Given the description of an element on the screen output the (x, y) to click on. 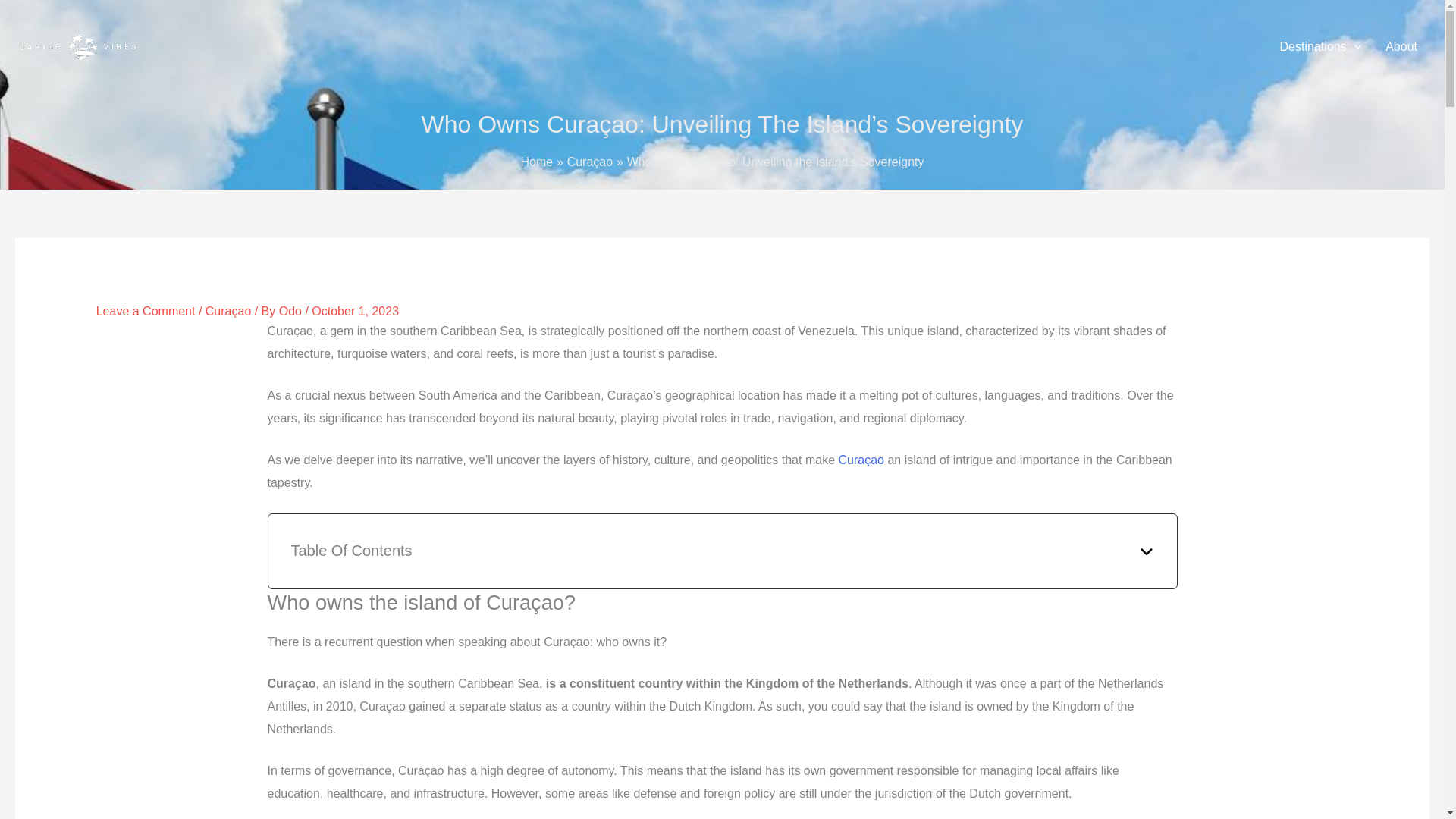
Home (536, 161)
Leave a Comment (145, 310)
Destinations (1321, 46)
About (1401, 46)
View all posts by Odo (292, 310)
Odo (292, 310)
